Given the description of an element on the screen output the (x, y) to click on. 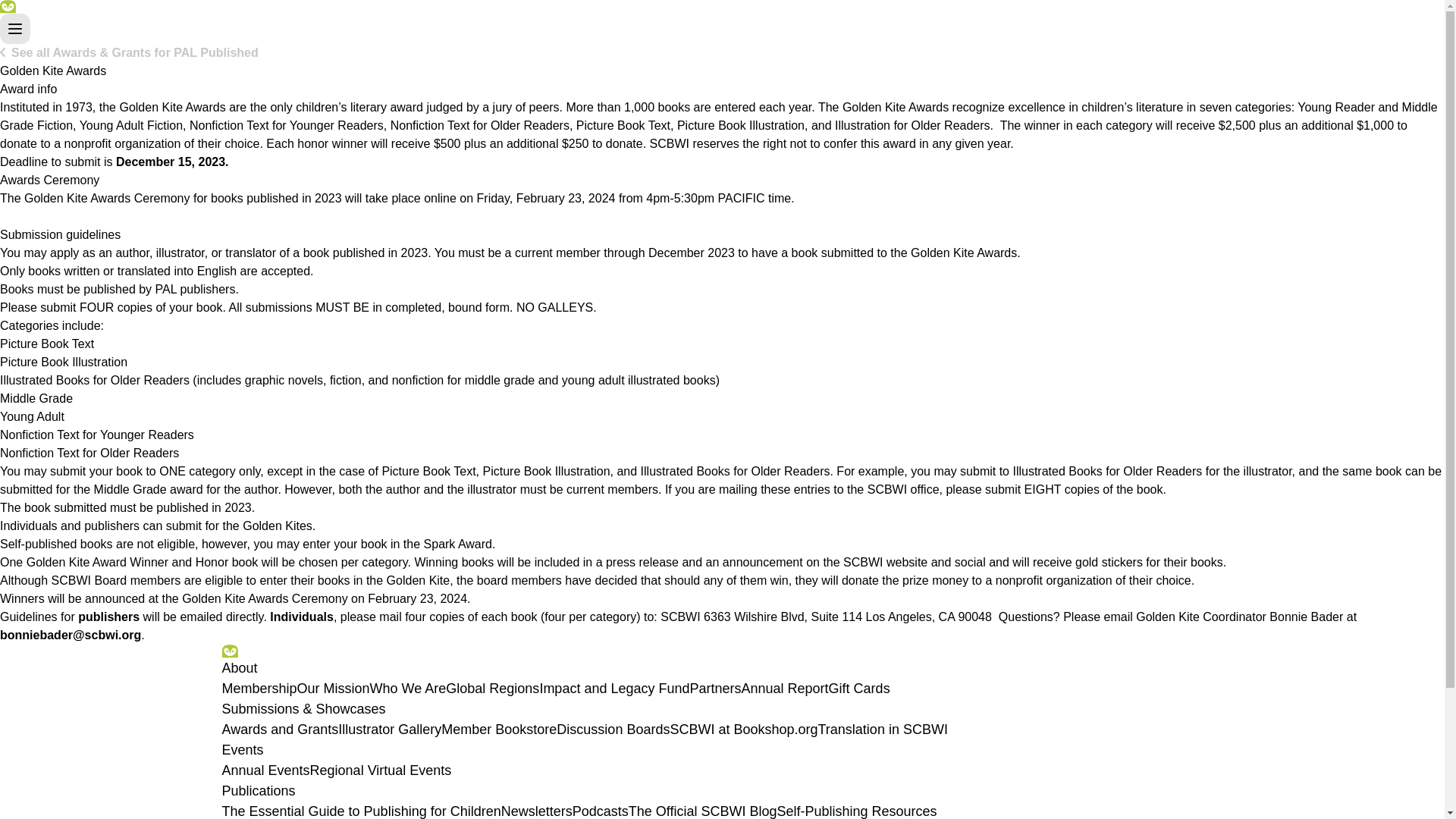
Partners (715, 688)
Discussion Boards (612, 729)
The Official SCBWI Blog (702, 811)
Our Mission (333, 688)
Membership (259, 688)
SCBWI at Bookshop.org (742, 729)
Global Regions (491, 688)
Member Bookstore (498, 729)
Gift Cards (858, 688)
Awards and Grants (279, 729)
Illustrator Gallery (389, 729)
The Essential Guide to Publishing for Children (360, 811)
Annual Report (784, 688)
Podcasts (600, 811)
Impact and Legacy Fund (613, 688)
